Given the description of an element on the screen output the (x, y) to click on. 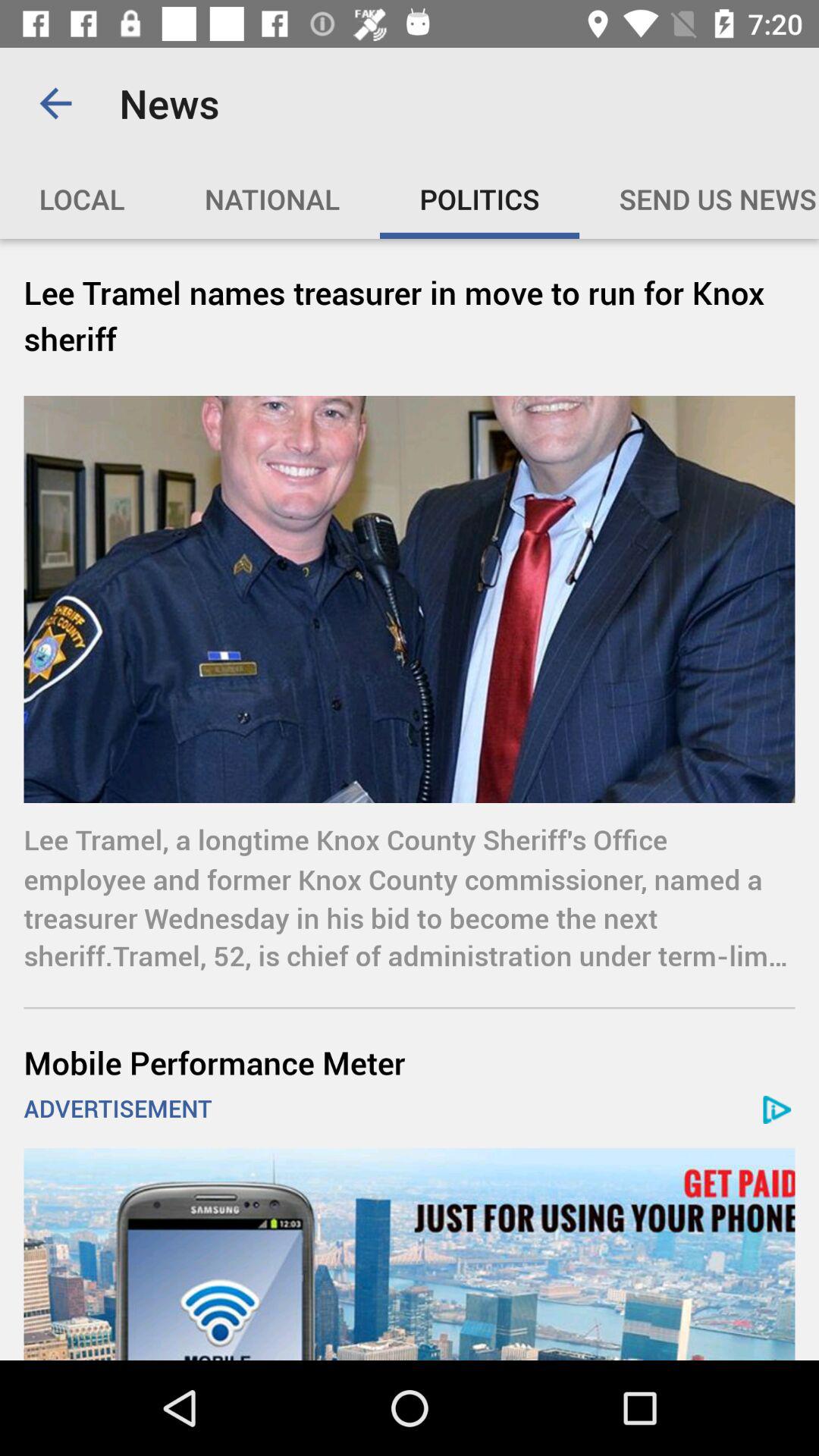
click the item below the lee tramel a icon (409, 1062)
